Given the description of an element on the screen output the (x, y) to click on. 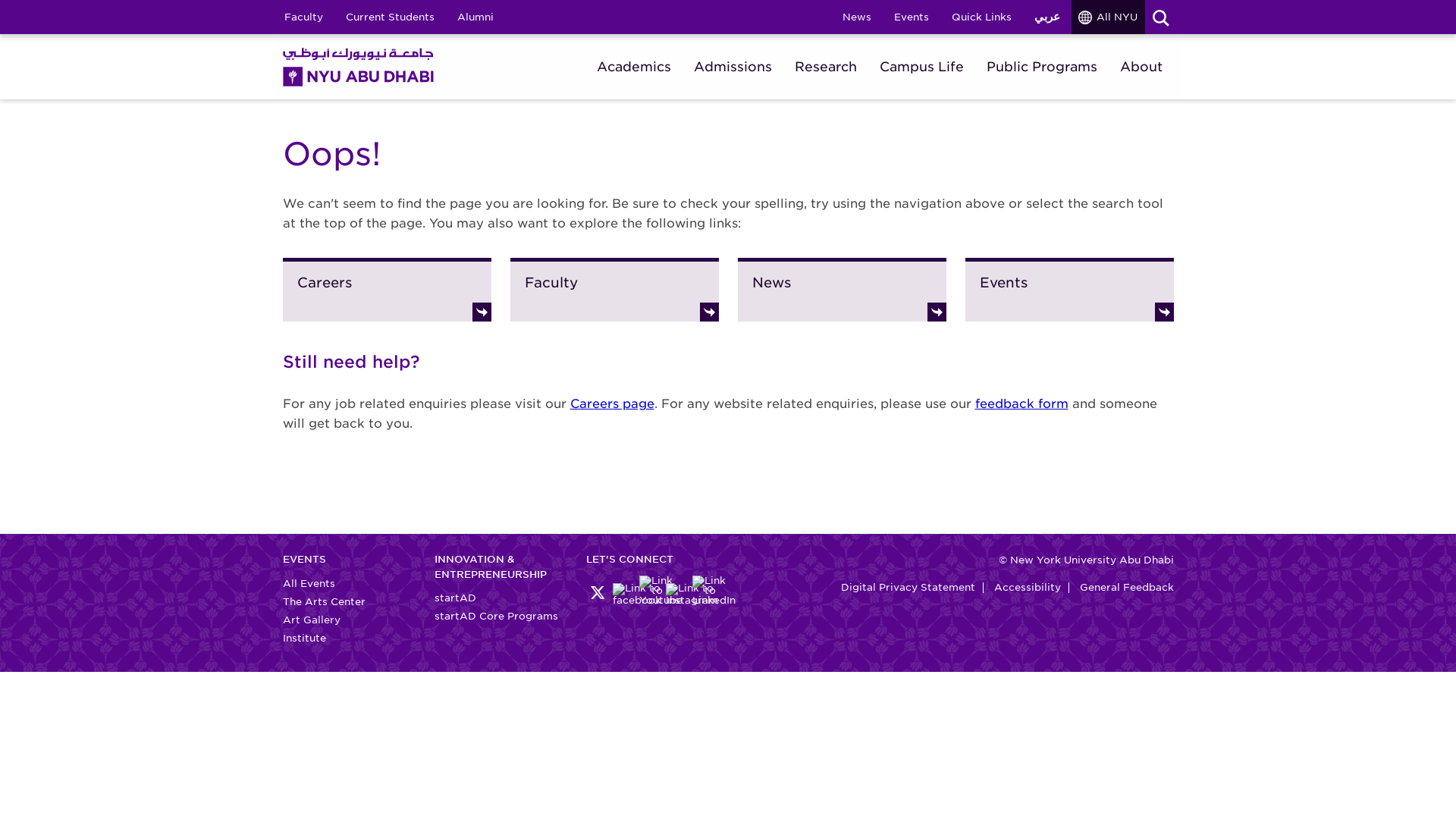
Search NYU Abu Dhabi (1160, 16)
Faculty (303, 17)
Current Students (389, 17)
Admissions (731, 66)
Academics (633, 66)
Research (825, 66)
All NYU (1107, 17)
News (856, 17)
Events (911, 17)
New York University Abu Dhabi Home (357, 65)
Alumni (475, 17)
Quick Links (981, 17)
